Given the description of an element on the screen output the (x, y) to click on. 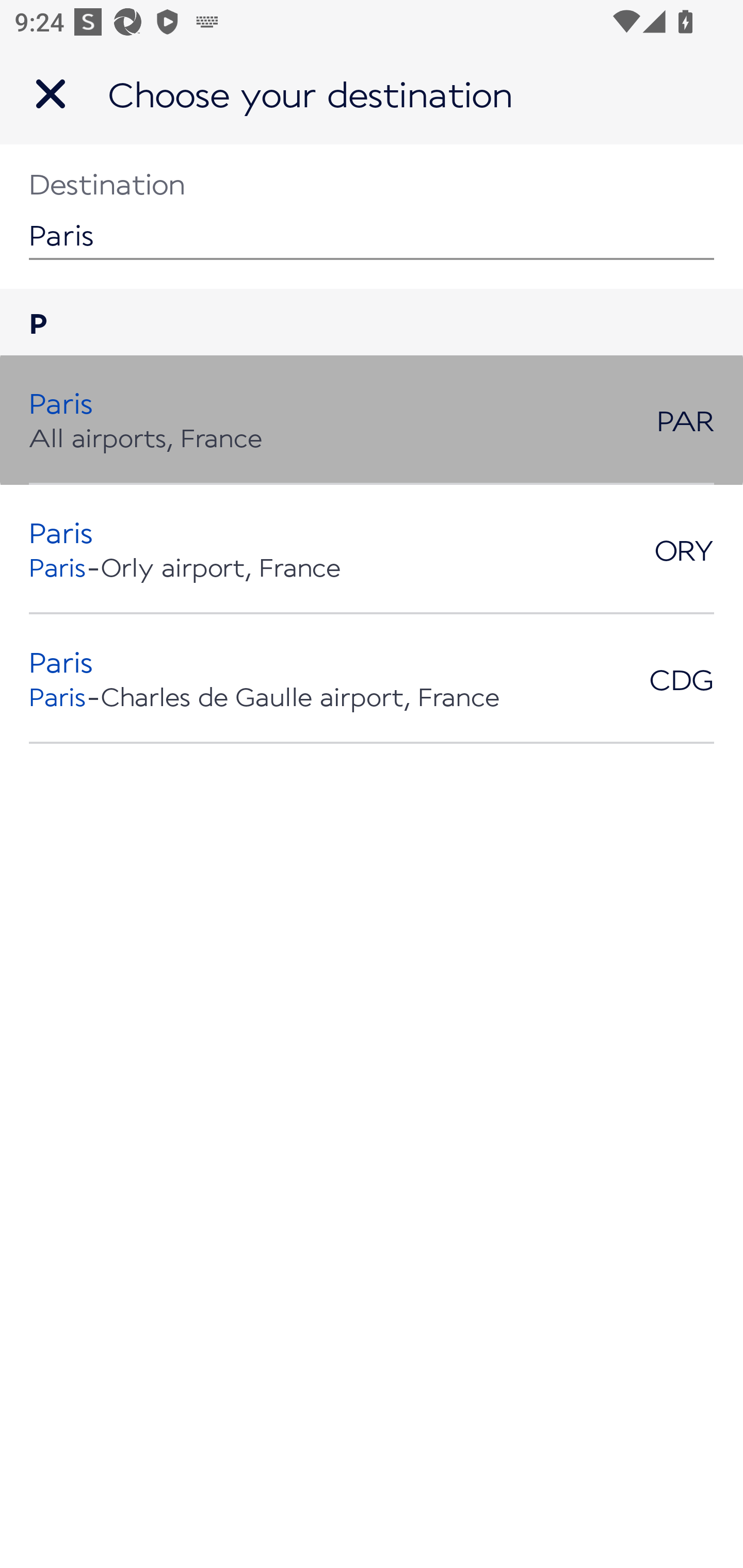
Navigate up (50, 93)
Paris (371, 216)
Paris All airports, France PAR (371, 419)
Paris Paris-Orly airport, France ORY (371, 549)
Paris Paris-Charles de Gaulle airport, France CDG (371, 678)
